Given the description of an element on the screen output the (x, y) to click on. 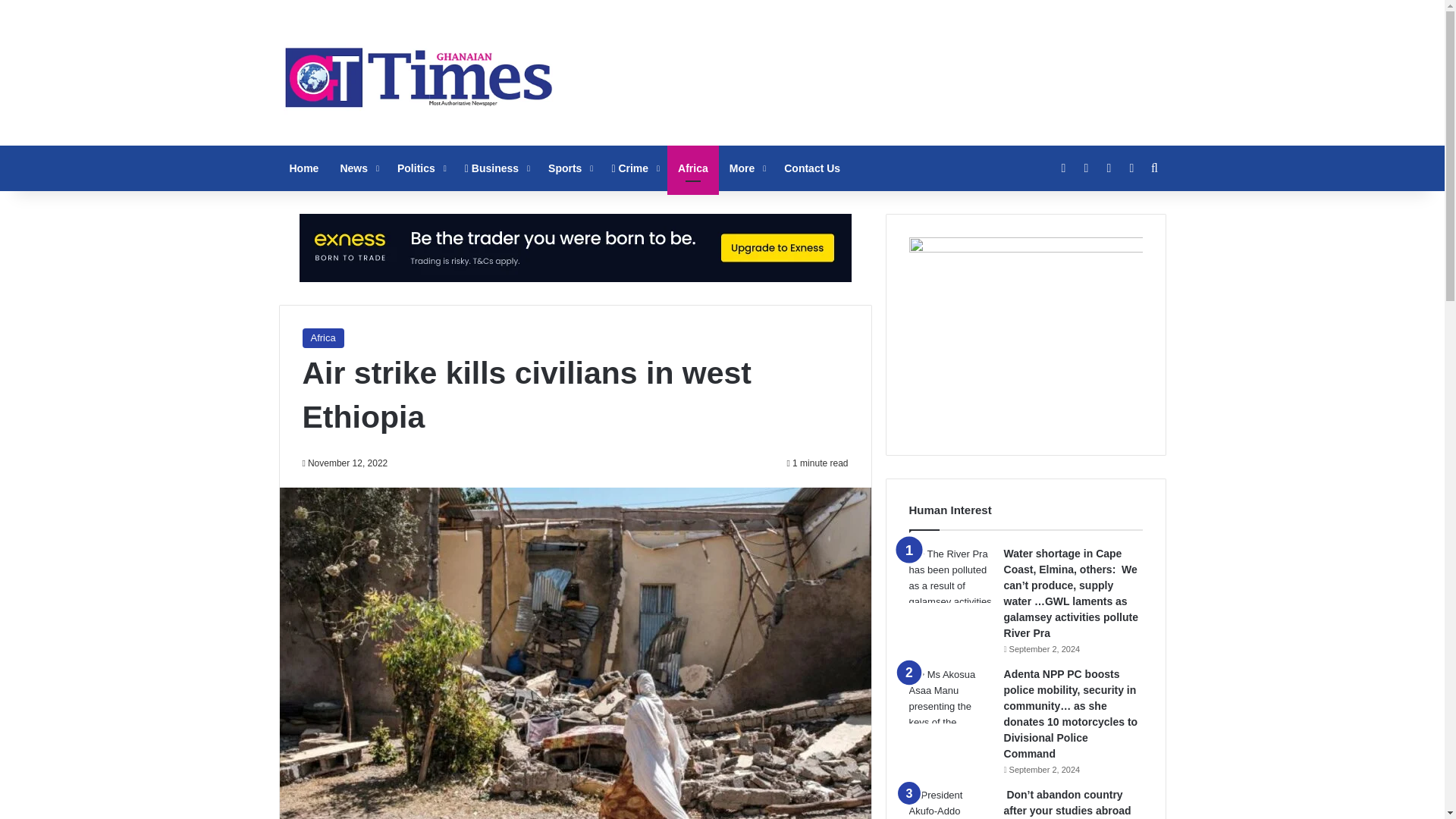
Business (495, 167)
More (746, 167)
Africa (692, 167)
Ghanaian Times (419, 72)
Crime (632, 167)
Africa (322, 338)
News (358, 167)
Home (304, 167)
Contact Us (811, 167)
Sports (568, 167)
